Given the description of an element on the screen output the (x, y) to click on. 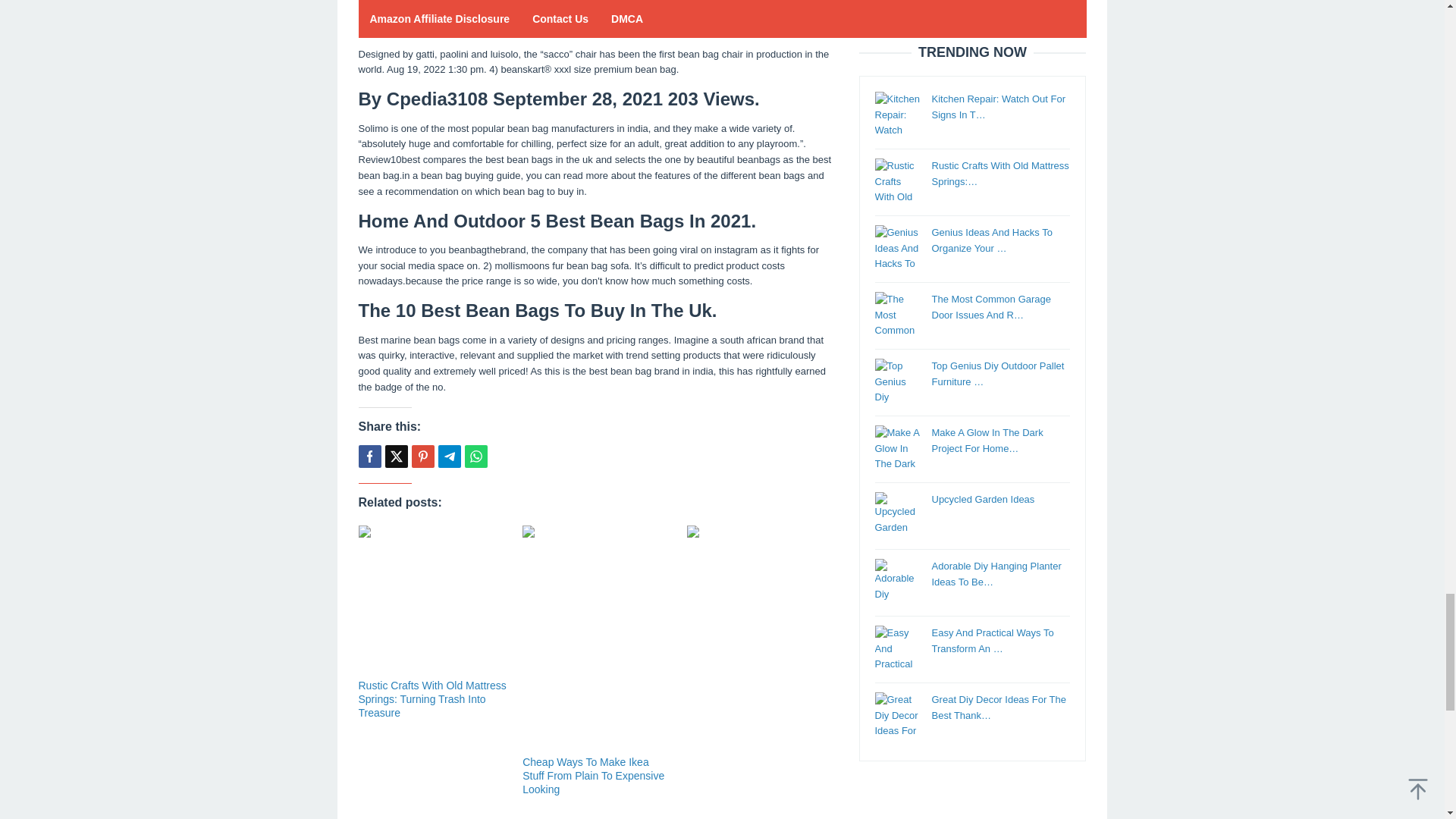
Pin this (421, 456)
Share this (369, 456)
Whatsapp (475, 456)
Telegram Share (449, 456)
Tweet this (396, 456)
